Given the description of an element on the screen output the (x, y) to click on. 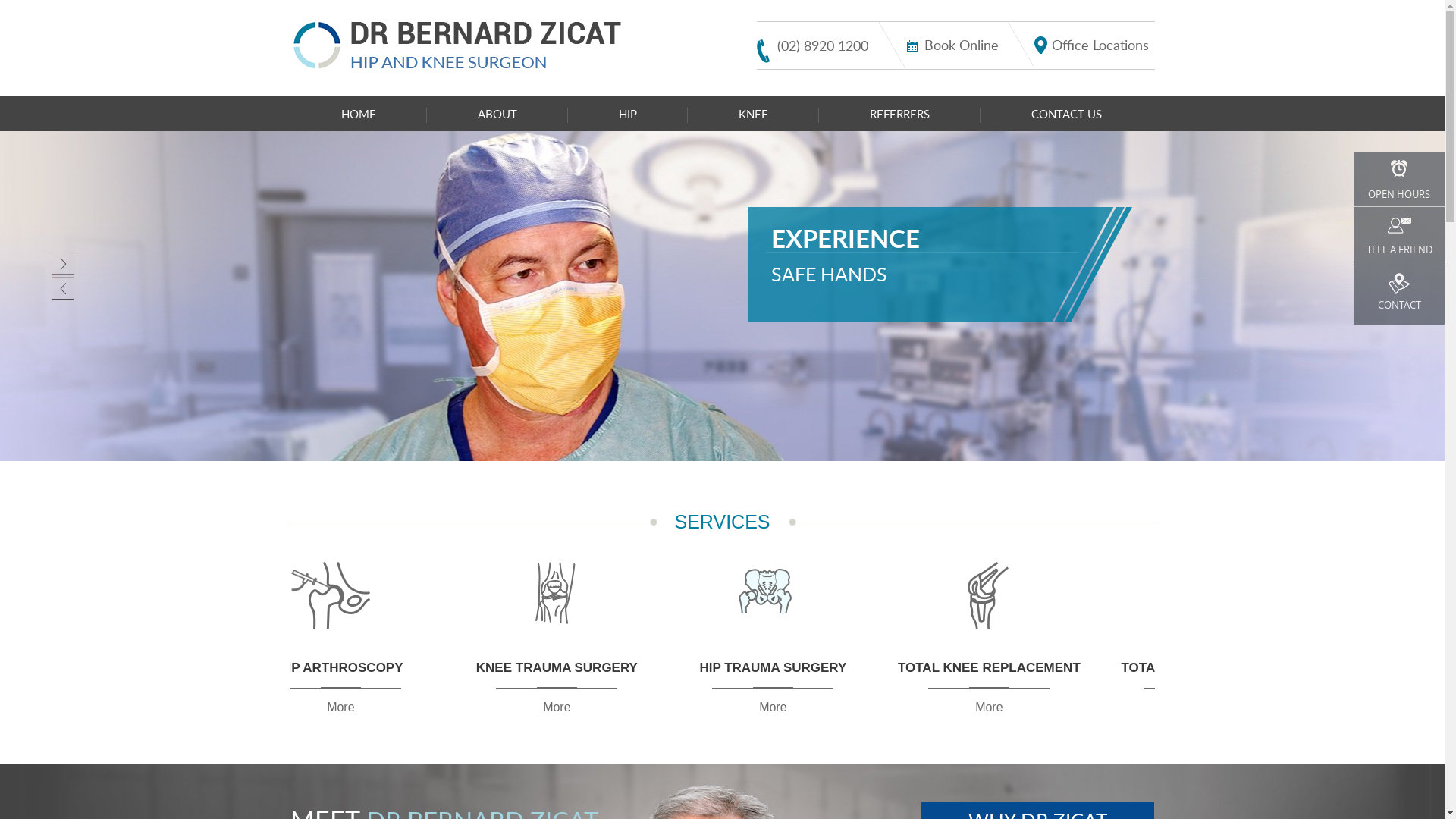
REFERRERS Element type: text (899, 113)
KNEE REVISION SURGERY Element type: text (550, 618)
HOME Element type: text (357, 113)
HIP REVISION SURGERY Element type: text (758, 618)
More Element type: text (754, 706)
(02) 8920 1200 Element type: text (812, 48)
OPEN HOURS Element type: text (1398, 178)
KNEE ARTHROSCOPY Element type: text (965, 618)
More Element type: text (1170, 706)
KNEE Element type: text (752, 113)
SERVICES Element type: text (722, 521)
More Element type: text (340, 706)
Next Element type: text (54, 265)
More Element type: text (547, 706)
HIP Element type: text (627, 113)
Previous Element type: text (68, 287)
ABOUT Element type: text (496, 113)
Book Online Element type: text (952, 44)
TELL A FRIEND Element type: text (1398, 234)
TOTAL HIP REPLACEMENT Element type: text (342, 618)
CONTACT US Element type: text (1065, 113)
CONTACT Element type: text (1398, 293)
HIP ARTHROSCOPY Element type: text (1173, 618)
More Element type: text (962, 706)
Office Locations Element type: text (1091, 44)
